Given the description of an element on the screen output the (x, y) to click on. 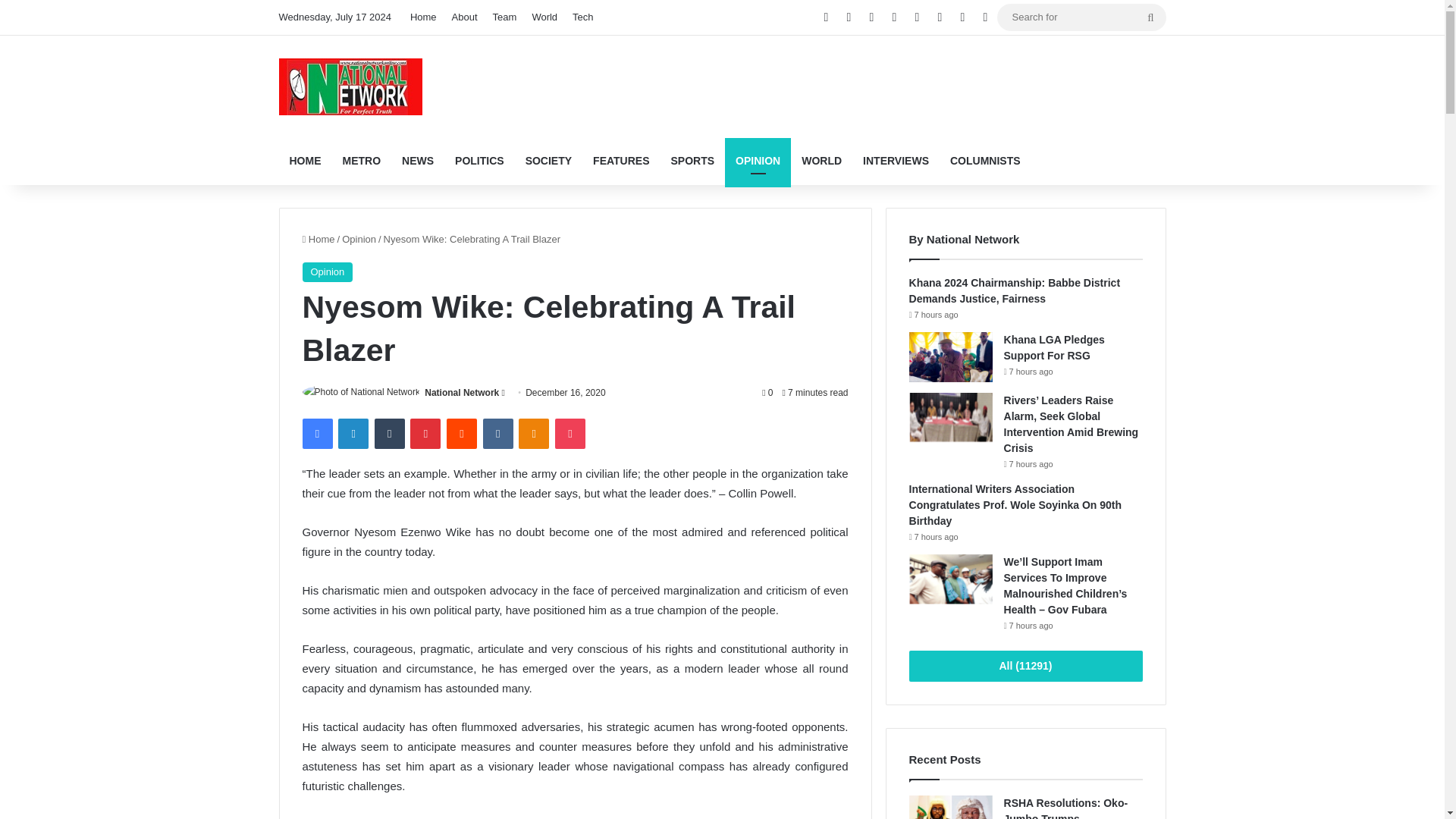
RSS (916, 17)
Search for (1080, 16)
SOCIETY (548, 160)
National Network (350, 85)
INTERVIEWS (895, 160)
Pinterest (425, 433)
Home (423, 17)
Sidebar (984, 17)
Tumblr (389, 433)
Facebook (316, 433)
Odnoklassniki (533, 433)
VKontakte (498, 433)
National Network (462, 392)
SPORTS (693, 160)
